Given the description of an element on the screen output the (x, y) to click on. 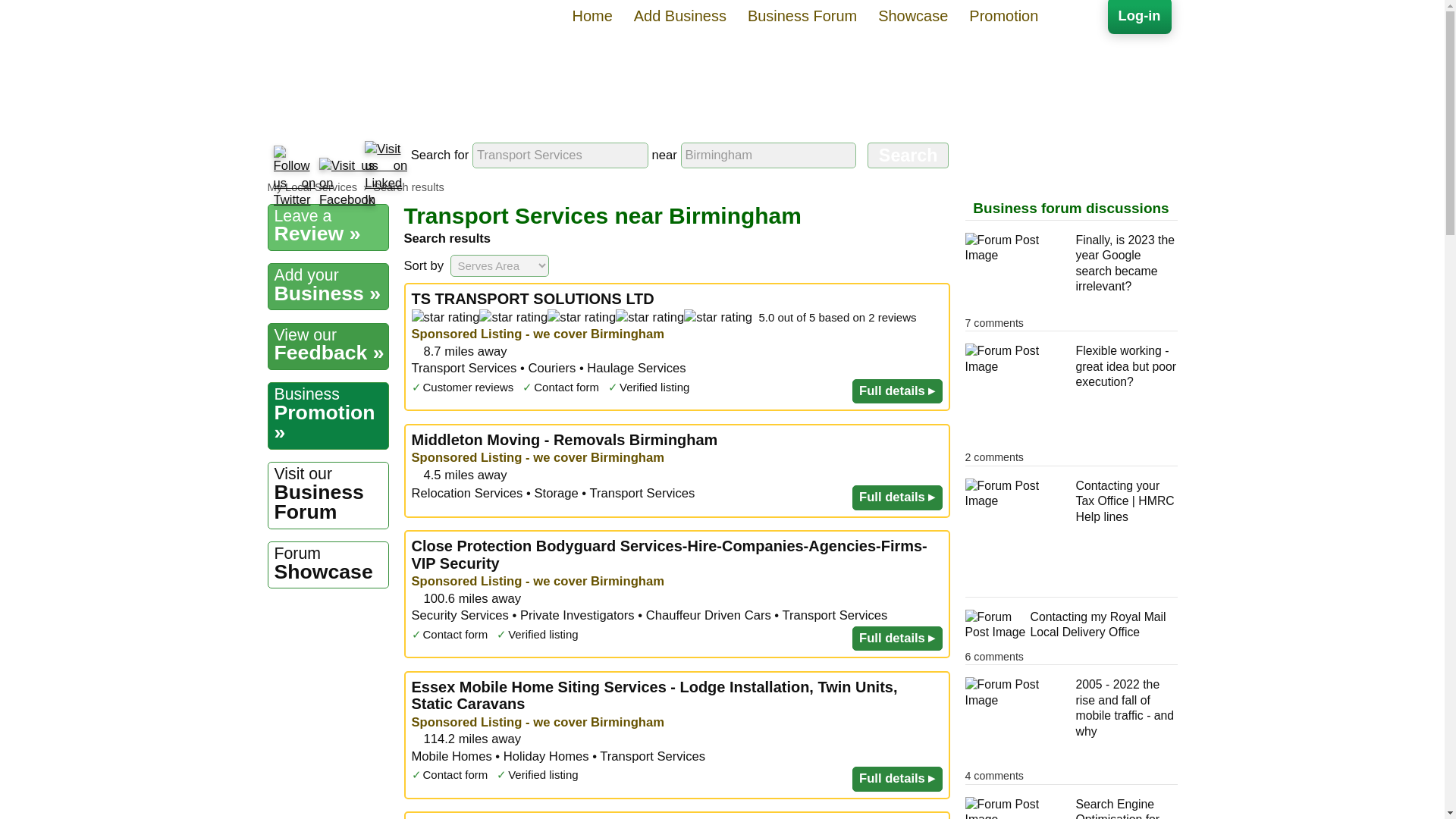
Birmingham (769, 155)
Home (591, 17)
Promotion (327, 494)
Visit us on Facebook (1003, 17)
Search (346, 183)
Transport Services (908, 155)
Log-in (559, 155)
